Given the description of an element on the screen output the (x, y) to click on. 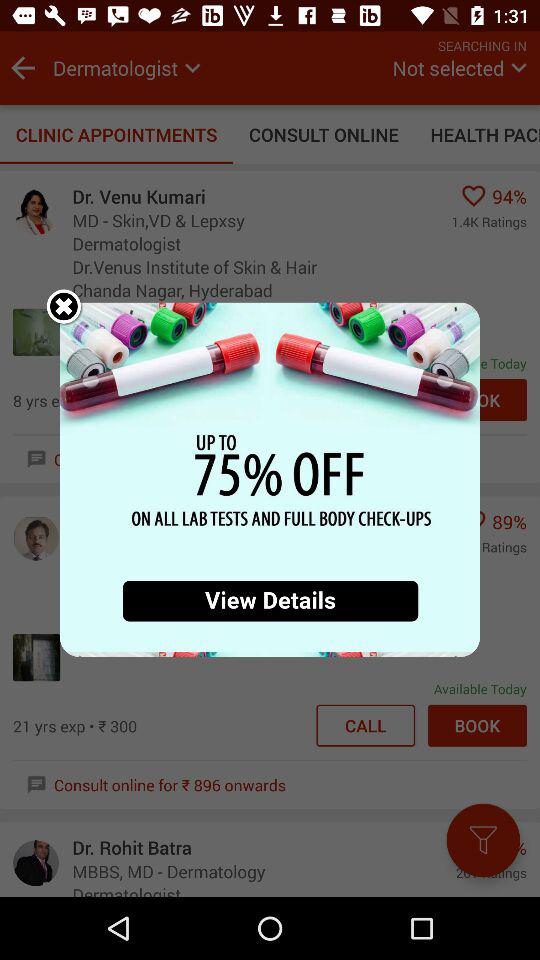
click to get discount (270, 479)
